Given the description of an element on the screen output the (x, y) to click on. 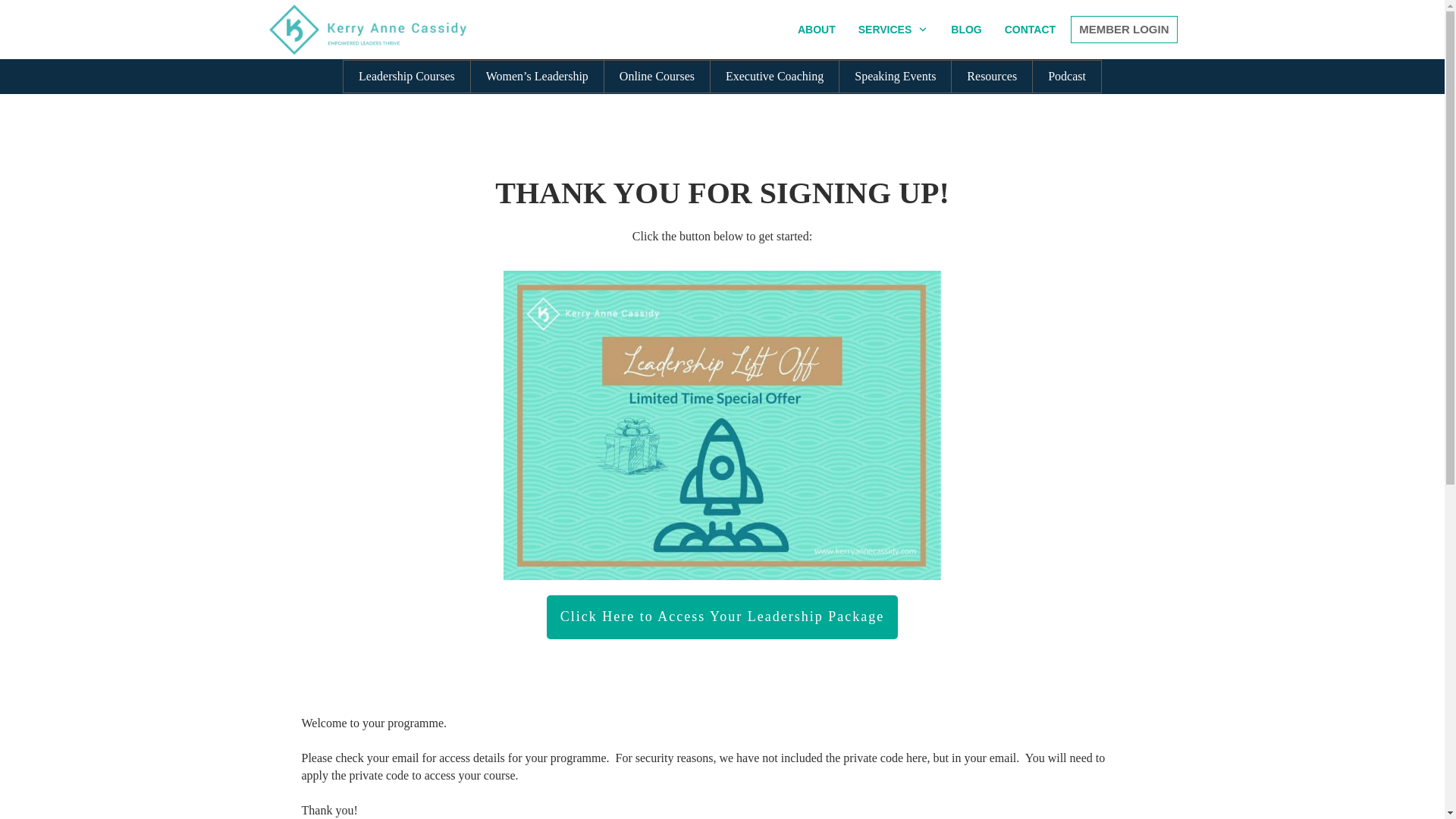
Speaking Events (895, 76)
Click Here to Access Your Leadership Package (722, 617)
MEMBER LOGIN (1123, 29)
SERVICES (893, 29)
Online Courses (657, 76)
BLOG (965, 29)
Podcast (1067, 76)
Executive Coaching (774, 76)
ABOUT (816, 29)
Resources (991, 76)
Leadership Courses (406, 76)
CONTACT (1029, 29)
